Given the description of an element on the screen output the (x, y) to click on. 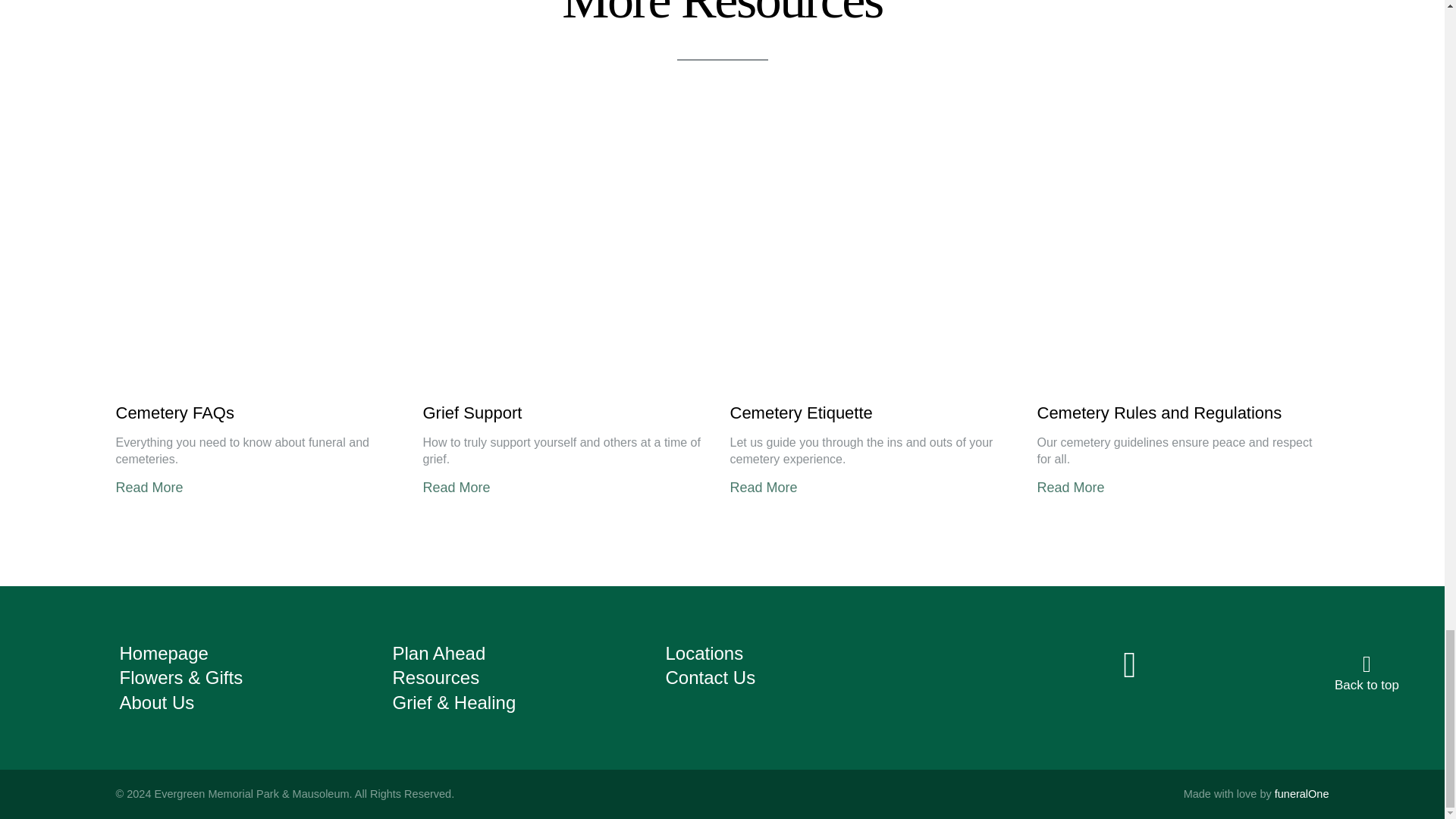
About Us (157, 702)
Back to top (1366, 676)
funeralOne (1302, 793)
Plan Ahead (437, 652)
Locations (703, 652)
Contact Us (710, 677)
Homepage (163, 652)
Resources (435, 677)
